Given the description of an element on the screen output the (x, y) to click on. 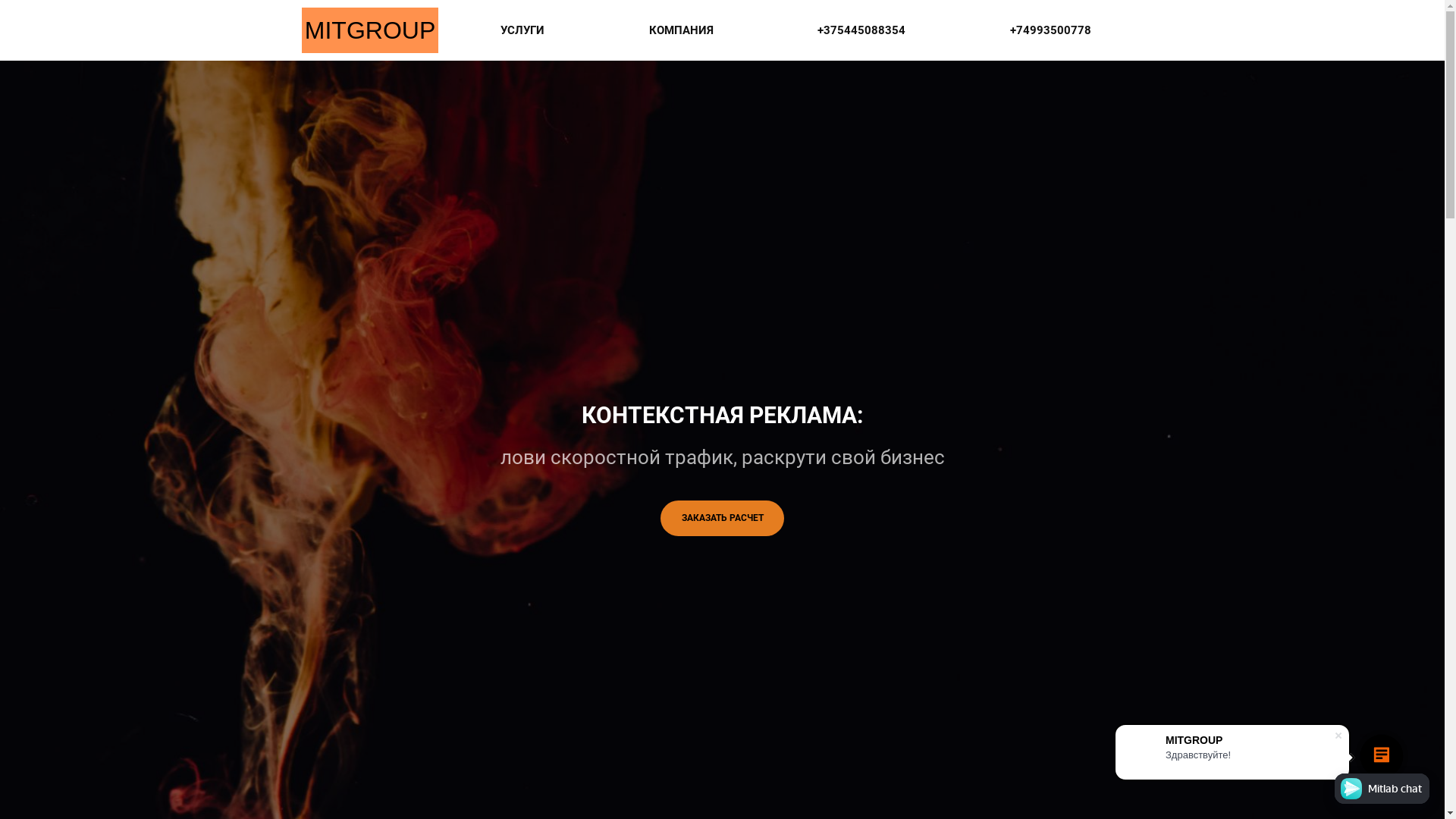
+375445088354 Element type: text (861, 29)
Mitlab chat Element type: text (1381, 788)
+74993500778 Element type: text (1050, 29)
